Given the description of an element on the screen output the (x, y) to click on. 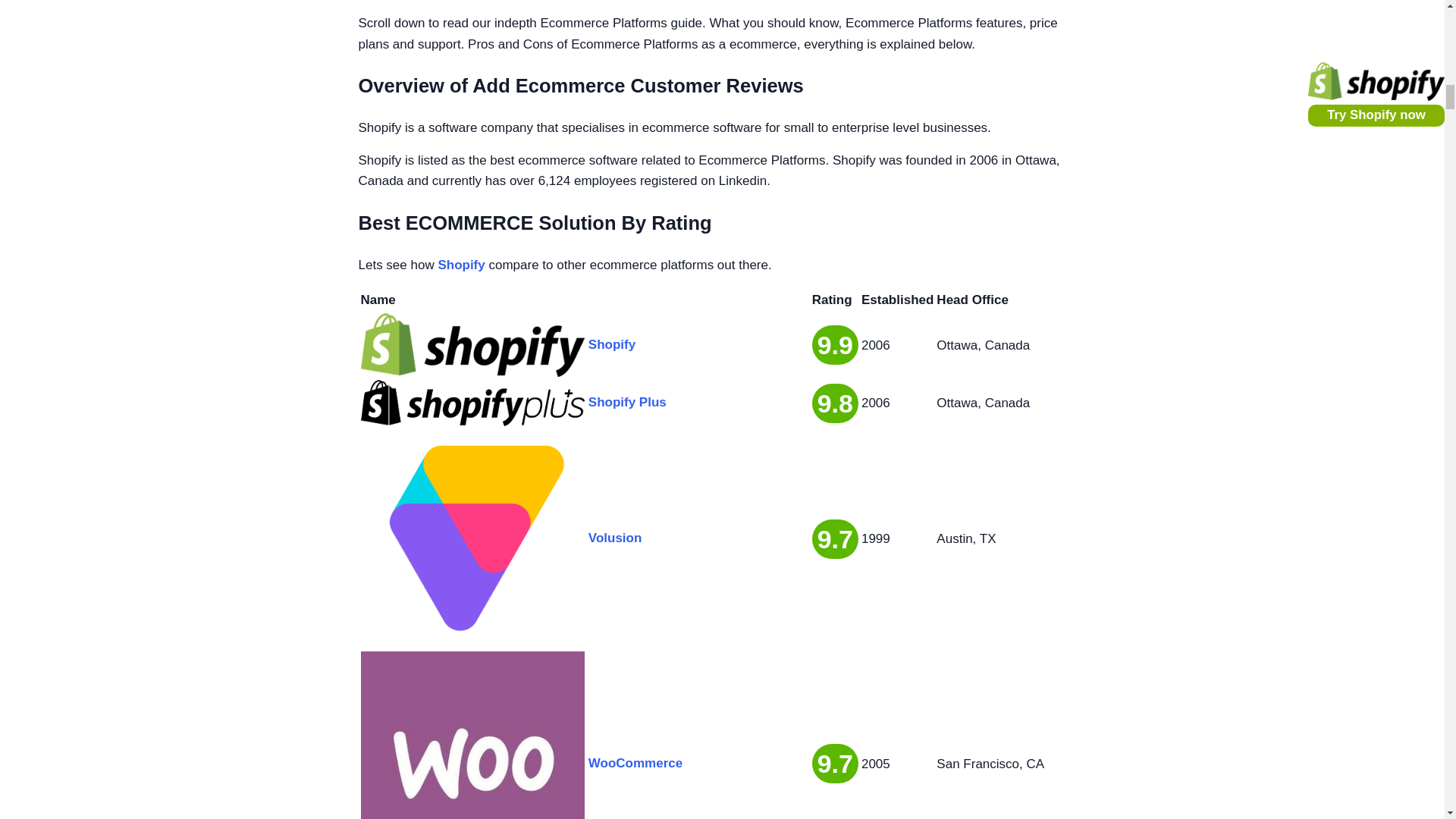
Click to learn more about Shopify Plus (473, 402)
Click to learn more about WooCommerce (473, 735)
Click to learn more about Shopify (473, 344)
Click to learn more about Volusion (473, 538)
